Given the description of an element on the screen output the (x, y) to click on. 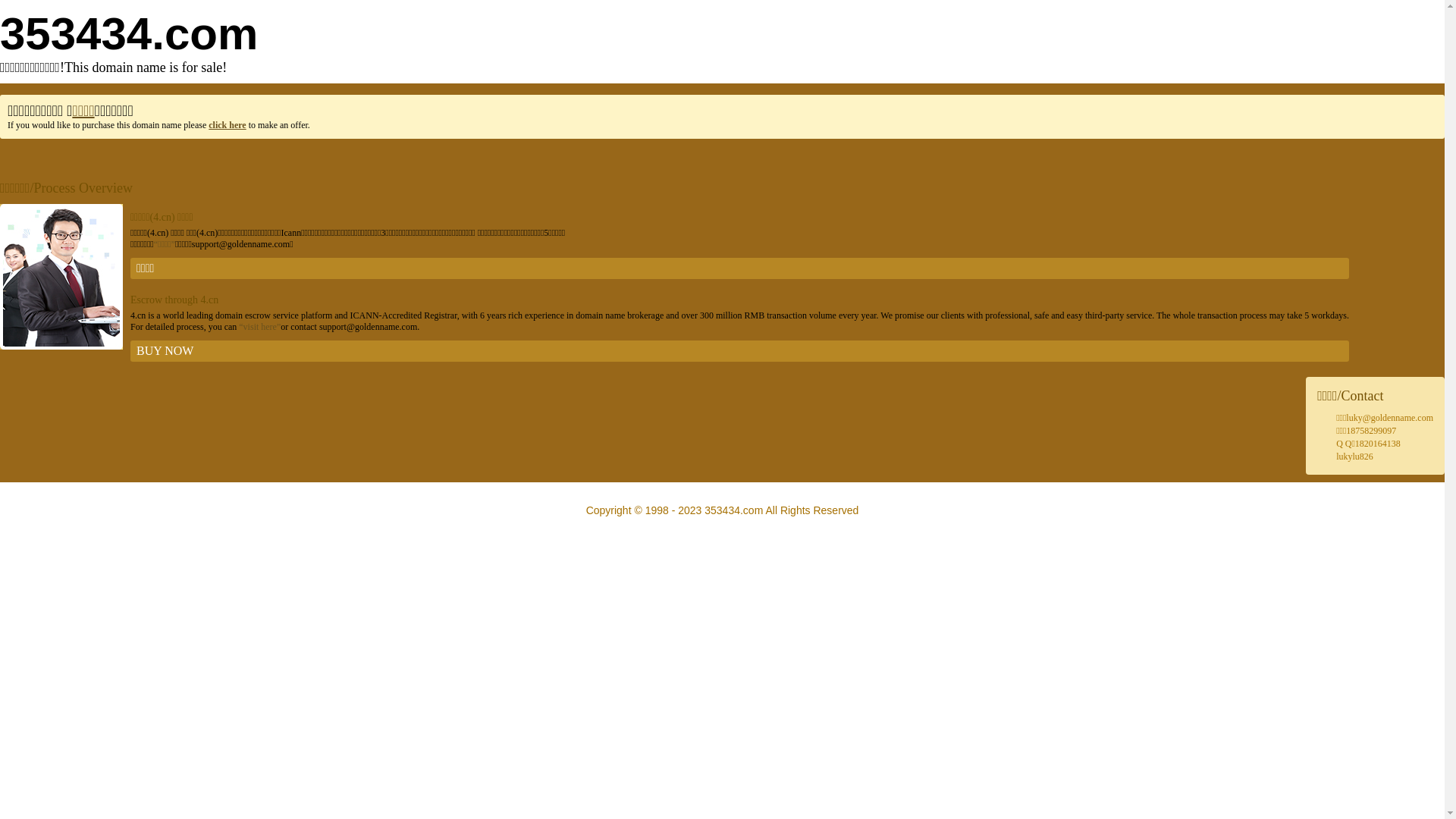
click here Element type: text (226, 124)
BUY NOW Element type: text (739, 350)
